Given the description of an element on the screen output the (x, y) to click on. 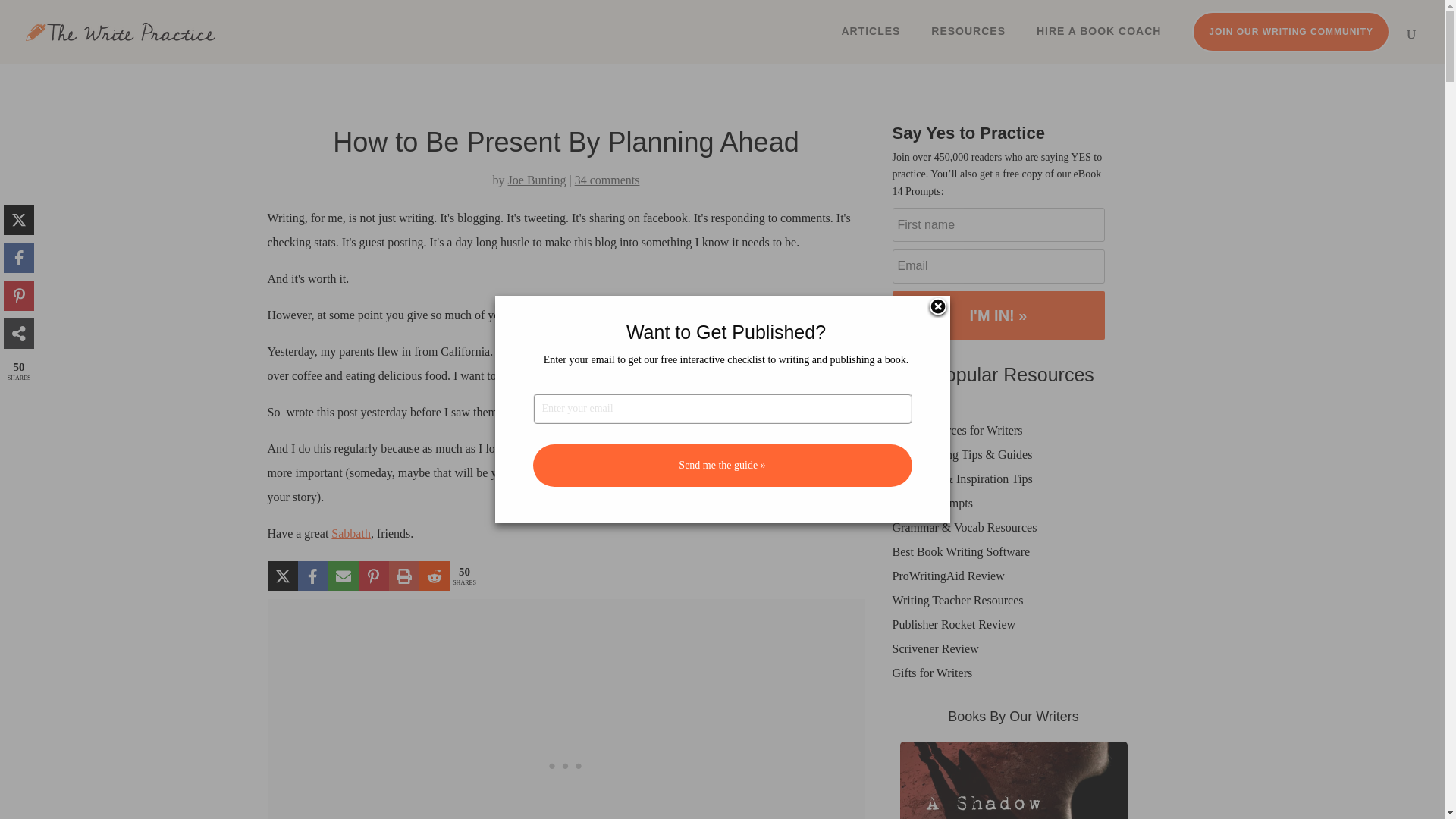
JOIN OUR WRITING COMMUNITY (1291, 31)
ARTICLES (870, 36)
RESOURCES (968, 36)
Joe Bunting (537, 179)
HIRE A BOOK COACH (1098, 36)
Close (937, 307)
Real Writers Rest (351, 533)
Sabbath (351, 533)
34 comments (607, 179)
